Given the description of an element on the screen output the (x, y) to click on. 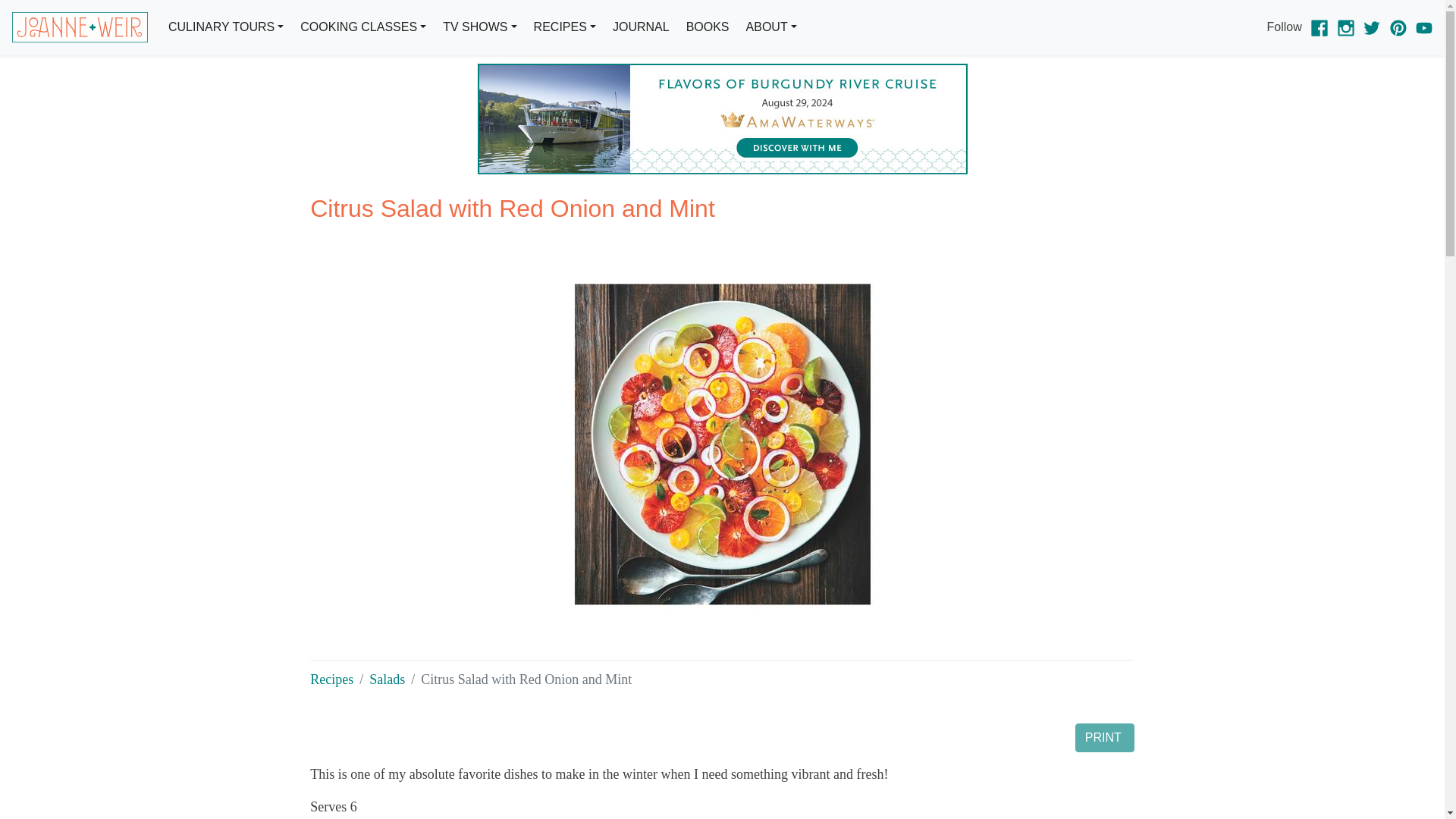
TV SHOWS (479, 27)
RECIPES (564, 27)
JOURNAL (641, 27)
COOKING CLASSES (362, 27)
Joanne Weir (79, 26)
Search (773, 96)
CULINARY TOURS (225, 27)
